Given the description of an element on the screen output the (x, y) to click on. 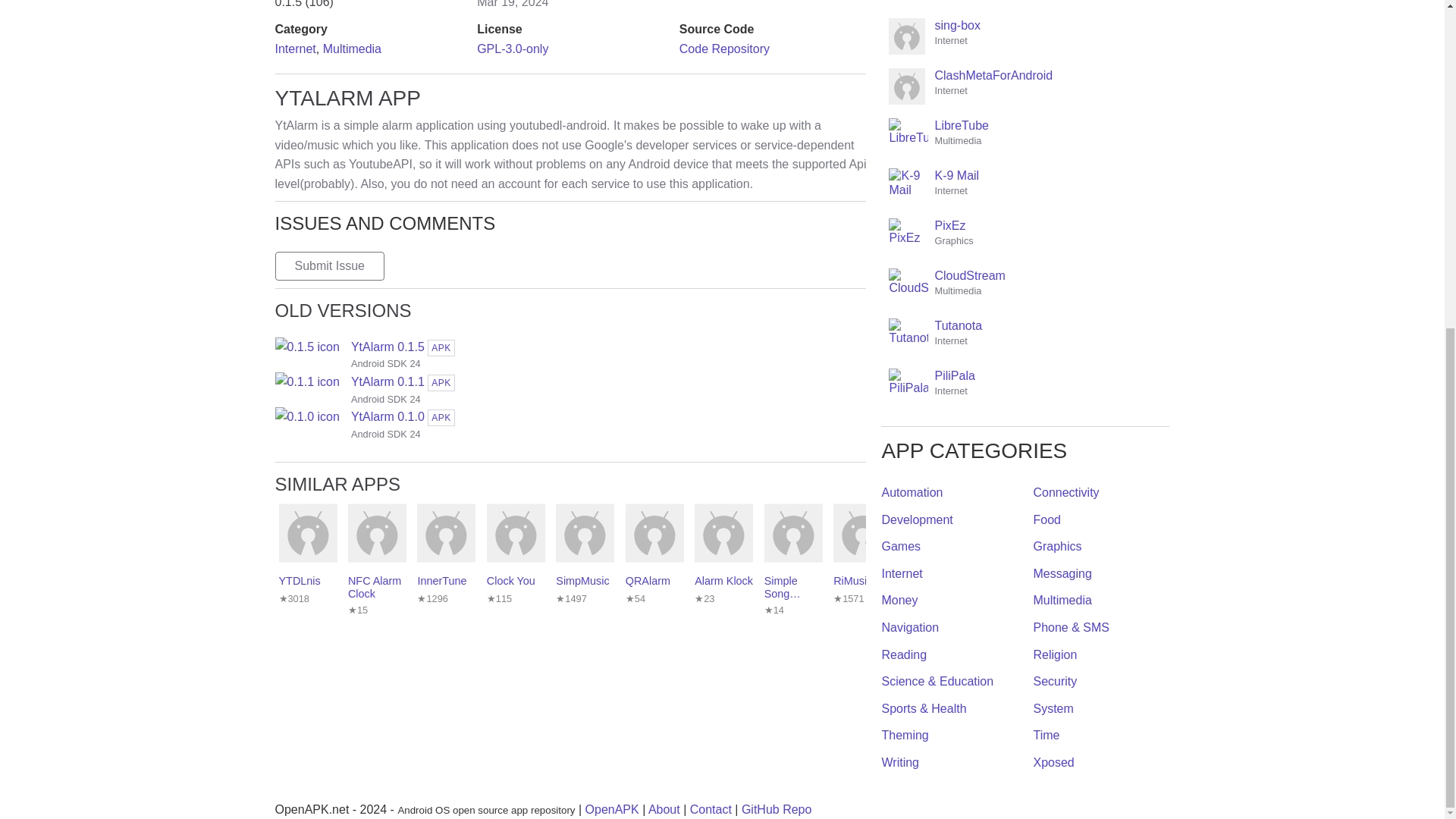
GPL-3.0-only (512, 48)
Download v0.1.1 APK (570, 389)
Download Latest Version APK (570, 424)
Code Repository (570, 389)
Multimedia (570, 354)
Submit Issue (724, 48)
Internet (352, 48)
Download v0.1.0 APK (329, 265)
